Given the description of an element on the screen output the (x, y) to click on. 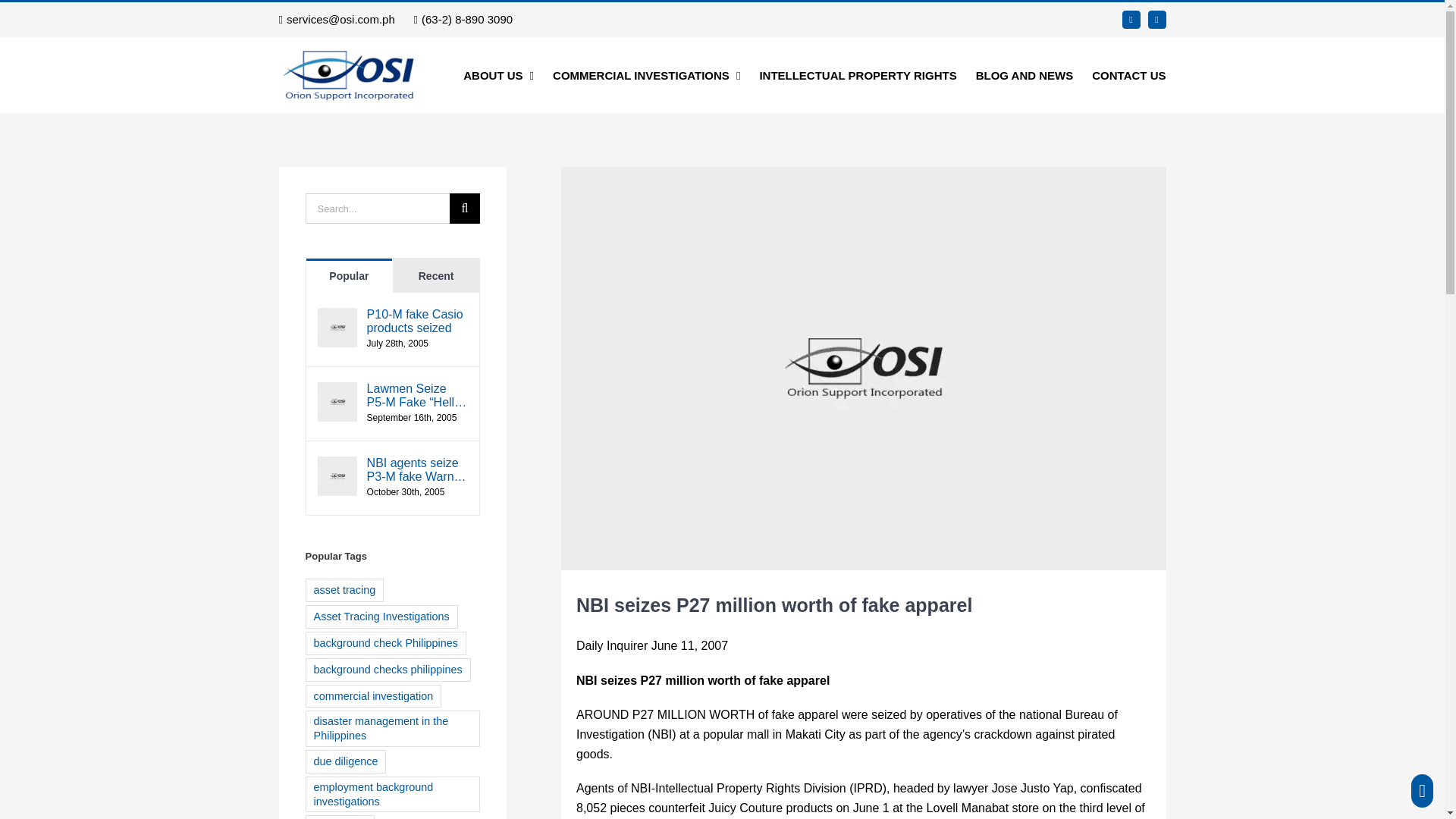
INTELLECTUAL PROPERTY RIGHTS (857, 74)
COMMERCIAL INVESTIGATIONS (646, 74)
Facebook (1131, 19)
ABOUT US (498, 74)
CONTACT US (1129, 74)
Twitter (1157, 19)
BLOG AND NEWS (1024, 74)
